Given the description of an element on the screen output the (x, y) to click on. 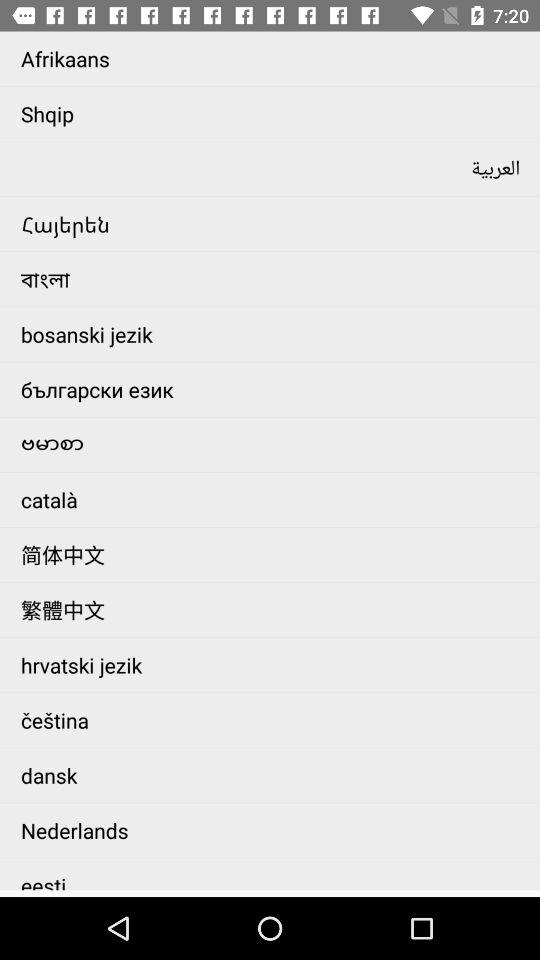
select app below hrvatski jezik app (275, 720)
